Given the description of an element on the screen output the (x, y) to click on. 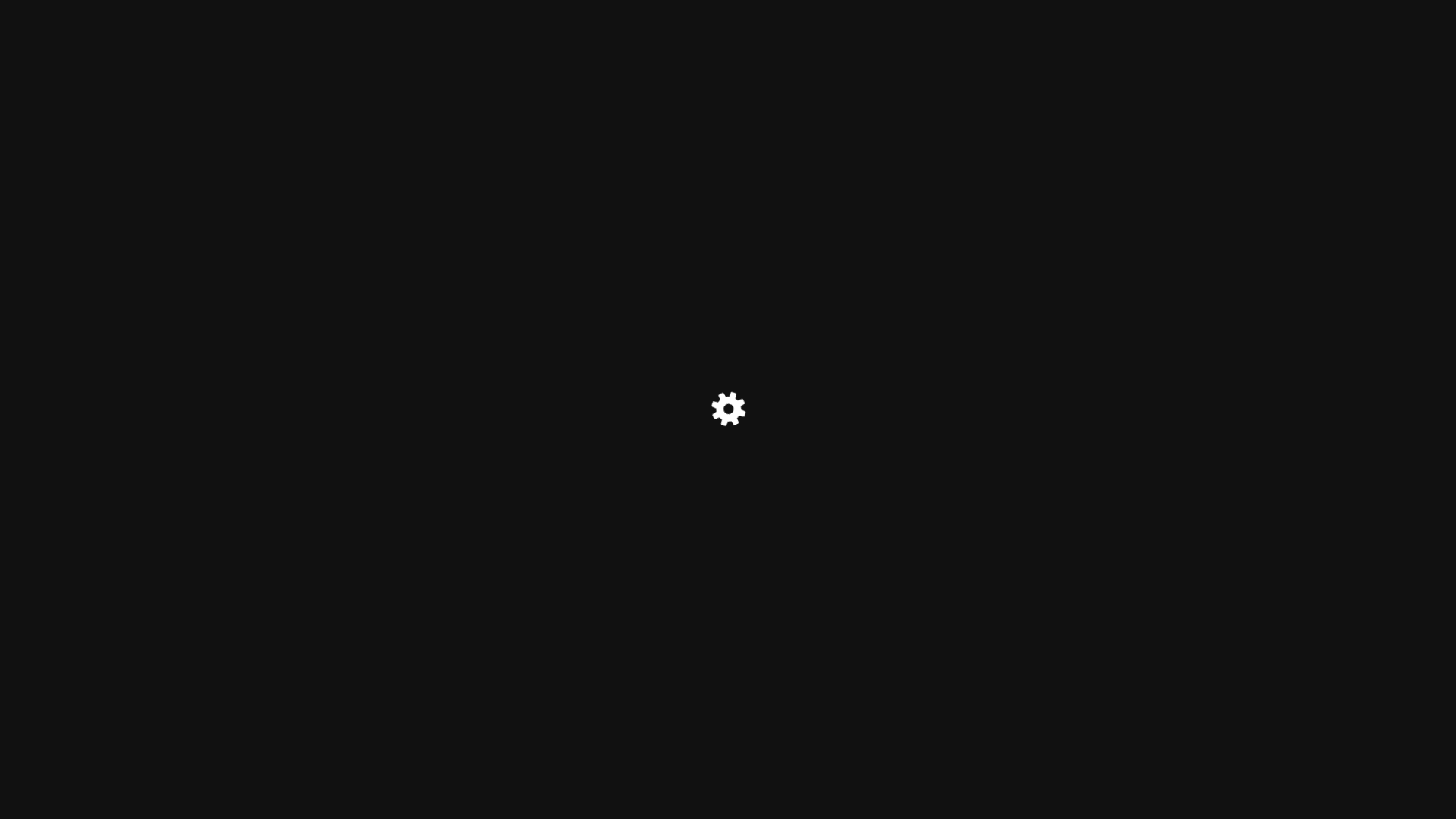
aela@earthlaws.org.au Element type: text (829, 130)
